Given the description of an element on the screen output the (x, y) to click on. 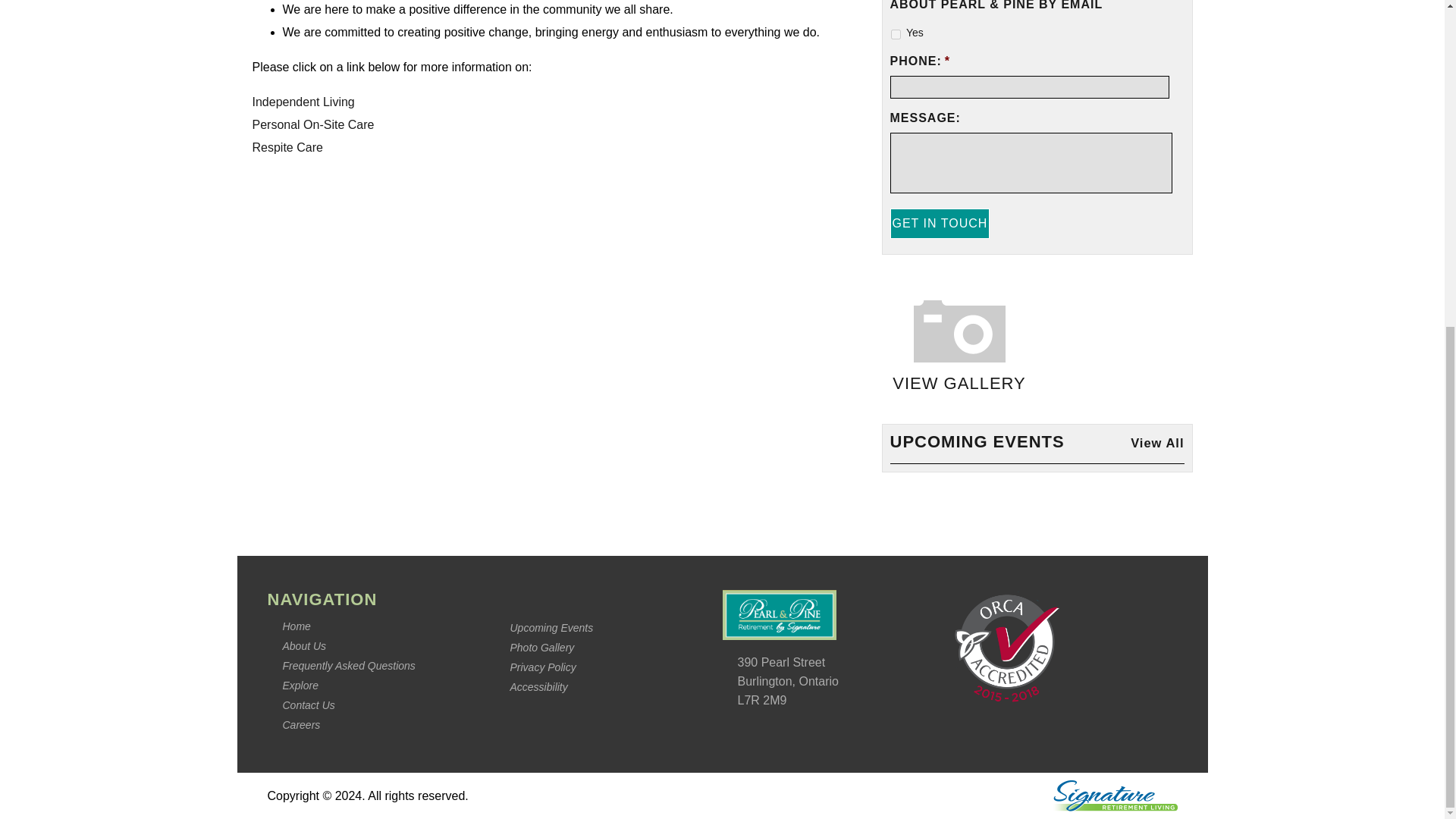
Get In Touch (939, 223)
  VIEW GALLERY (958, 331)
About Us (304, 645)
Yes (894, 34)
Personal On-Site Care (312, 124)
View All (1157, 442)
Get In Touch (939, 223)
Personal On-Site Care (312, 124)
Independent Living (302, 101)
Independent Living (302, 101)
Home (296, 625)
Respite Care (286, 146)
